Given the description of an element on the screen output the (x, y) to click on. 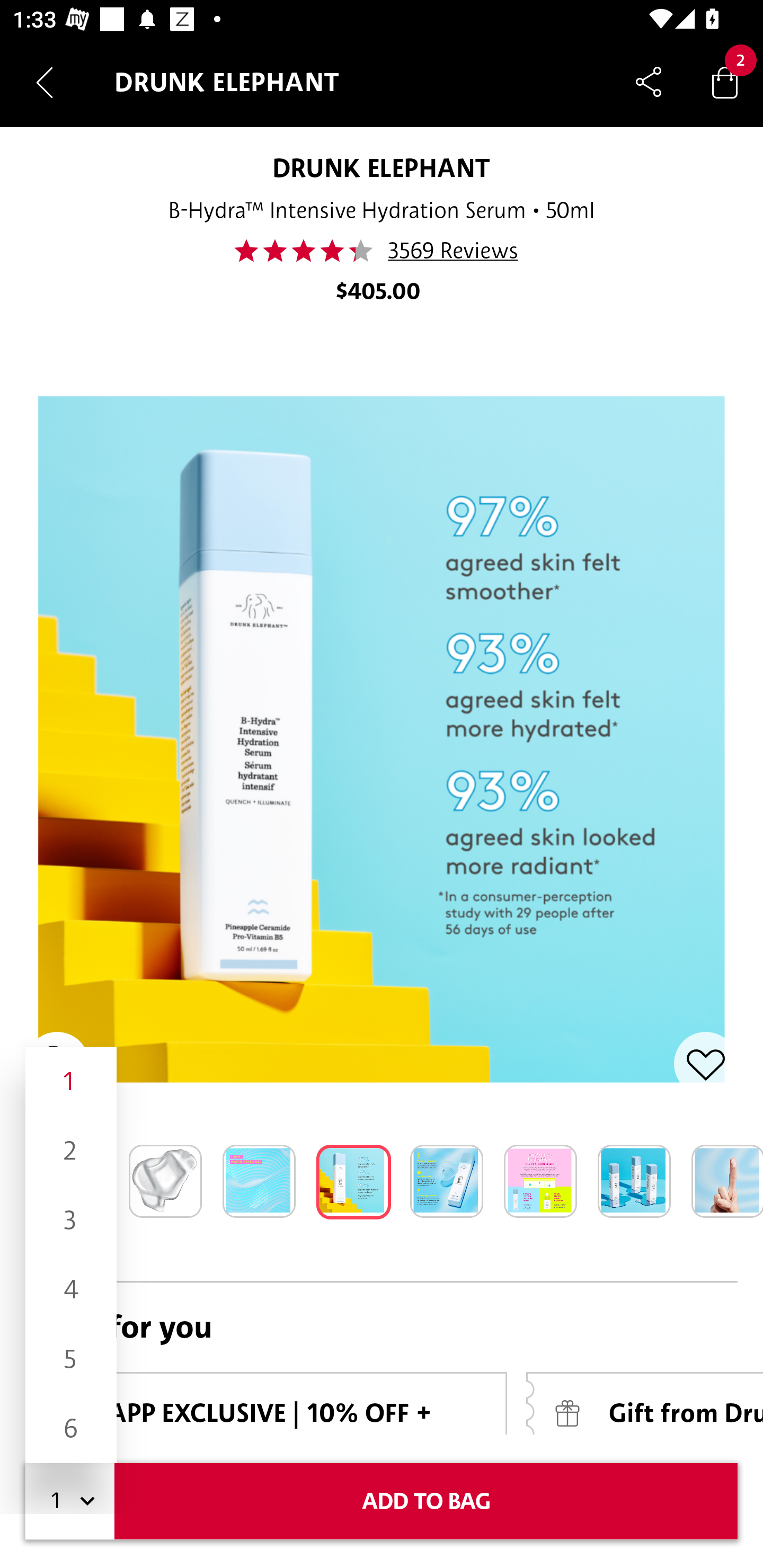
1 (70, 1081)
2 (70, 1150)
3 (70, 1219)
4 (70, 1289)
5 (70, 1358)
6 (70, 1427)
